Given the description of an element on the screen output the (x, y) to click on. 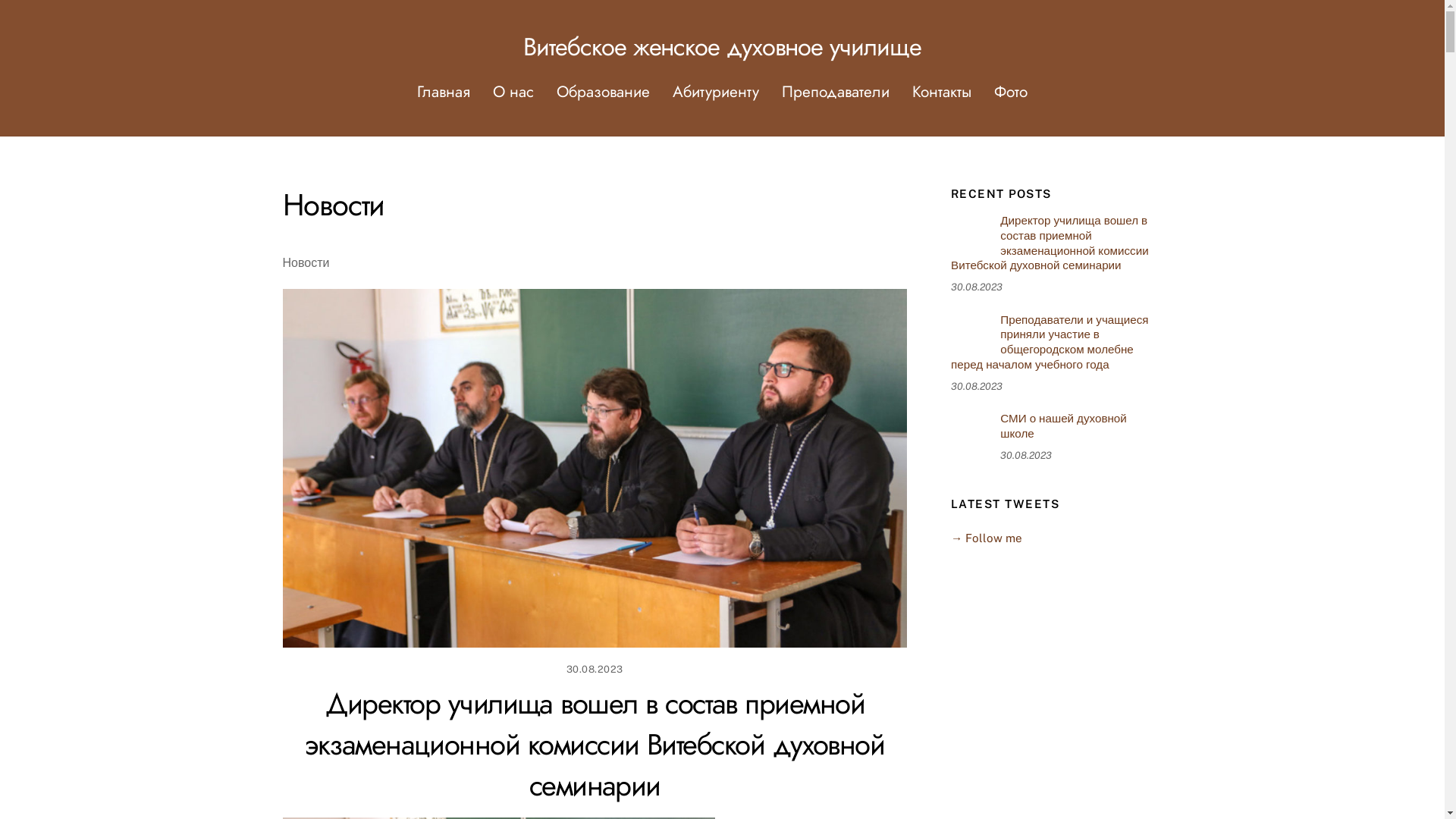
https://gorodvitebsk.by/ Element type: hover (969, 429)
